Given the description of an element on the screen output the (x, y) to click on. 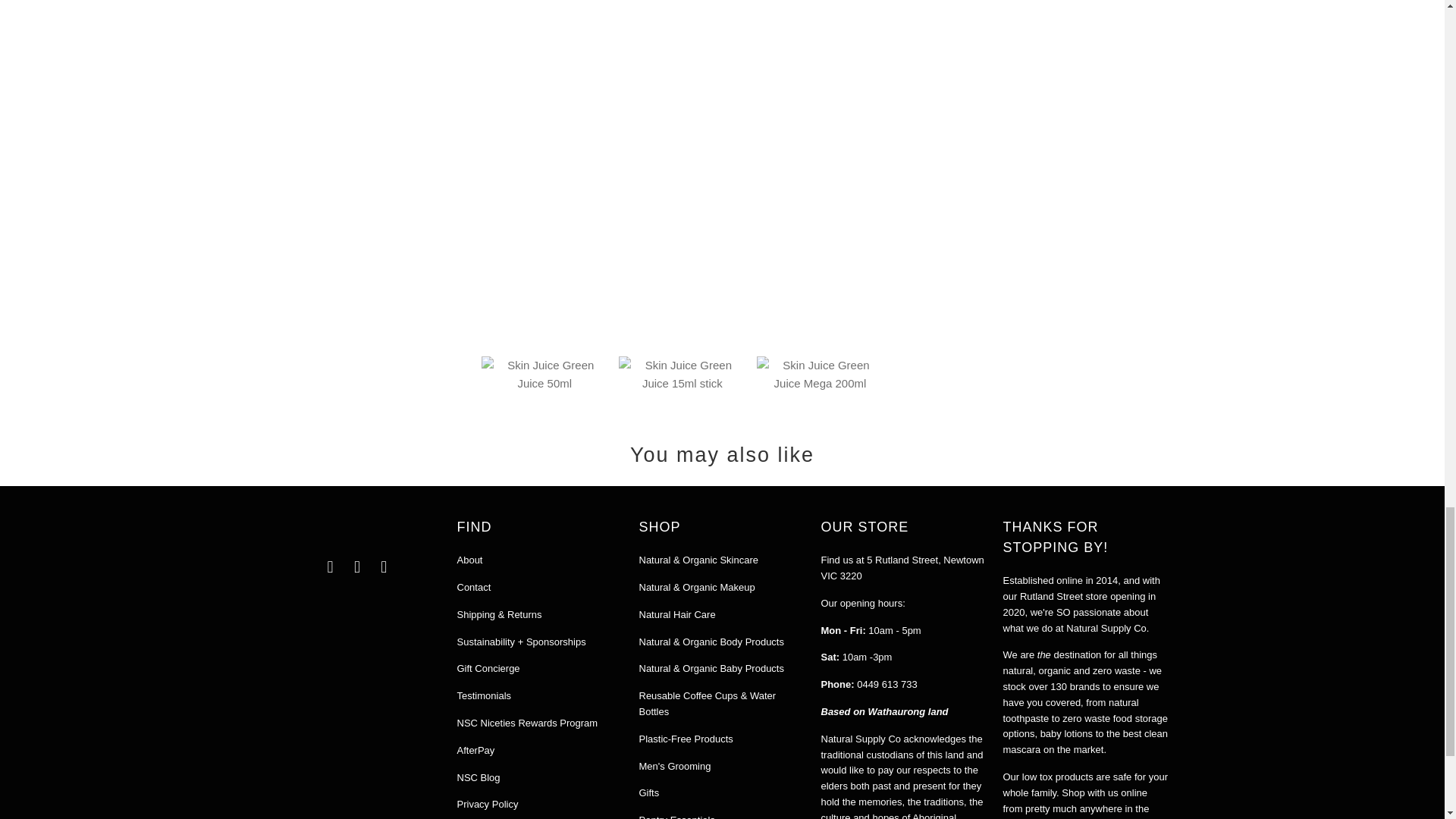
Natural Supply Co on Instagram (357, 566)
Natural Supply Co on TikTok (384, 566)
Natural Supply Co on Facebook (330, 566)
